Given the description of an element on the screen output the (x, y) to click on. 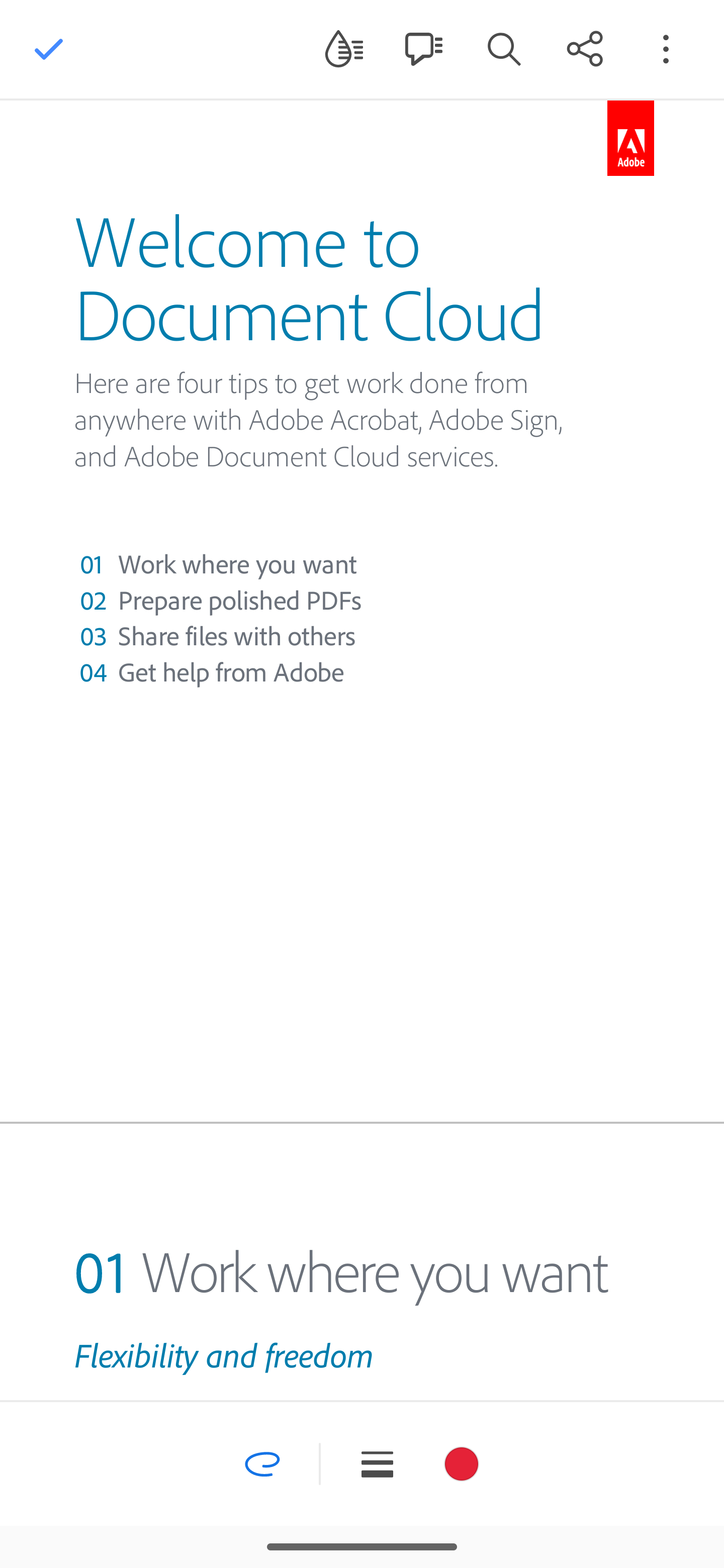
Done (49, 49)
Turn on Liquid Mode (343, 48)
Find keyword in document (503, 48)
Share this document with others (584, 48)
More options (665, 48)
Comments (423, 48)
Draw freeform (262, 1464)
Change line thickness (376, 1464)
Choose a color for the selected object (461, 1464)
